Given the description of an element on the screen output the (x, y) to click on. 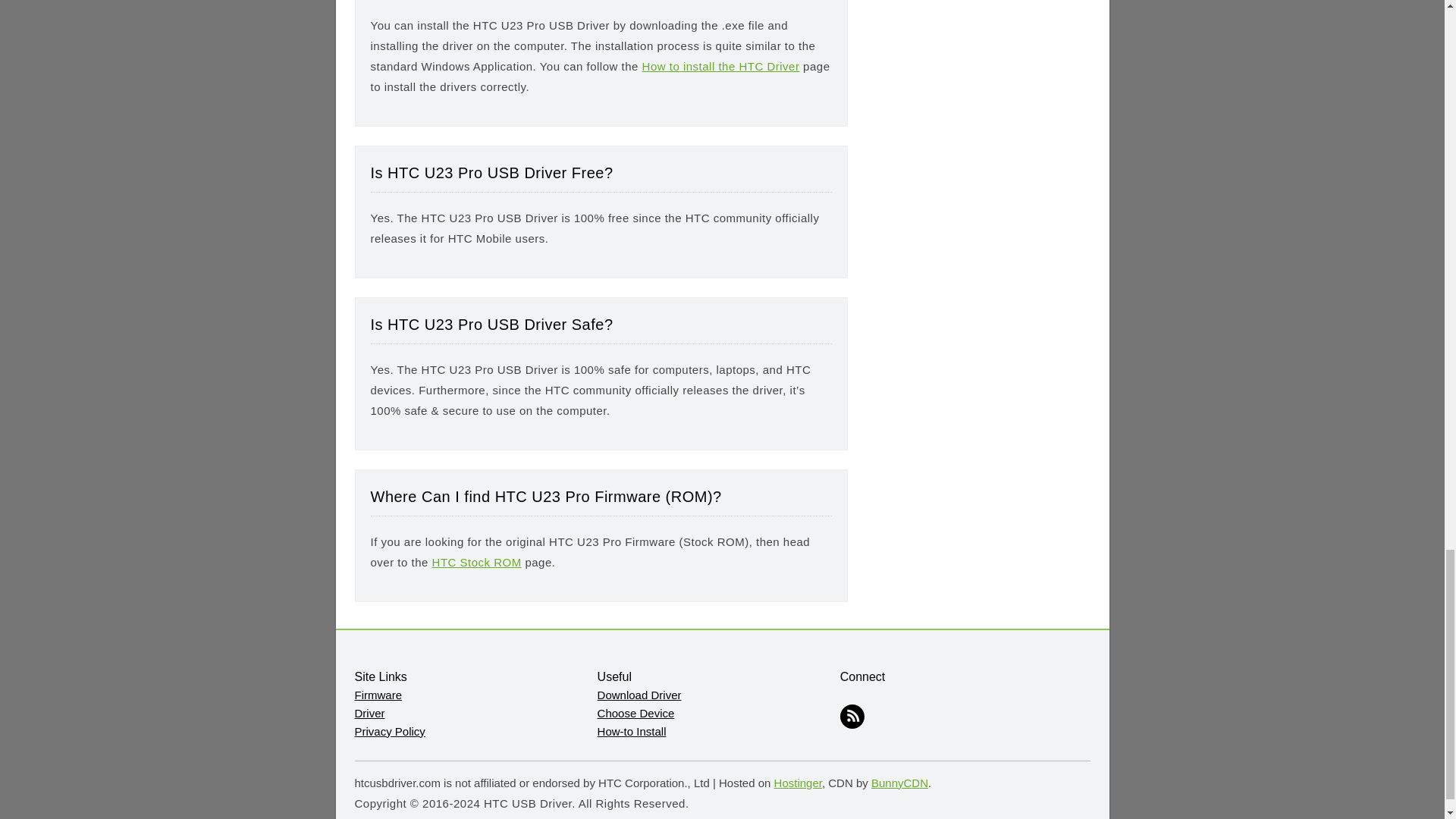
Privacy Policy (390, 730)
Firmware (379, 694)
Driver (370, 712)
Choose Device (635, 712)
HTC Stock ROM (476, 561)
Download Driver (638, 694)
How to install the HTC Driver (720, 65)
How-to Install (631, 730)
BunnyCDN (899, 782)
Hostinger (798, 782)
